Given the description of an element on the screen output the (x, y) to click on. 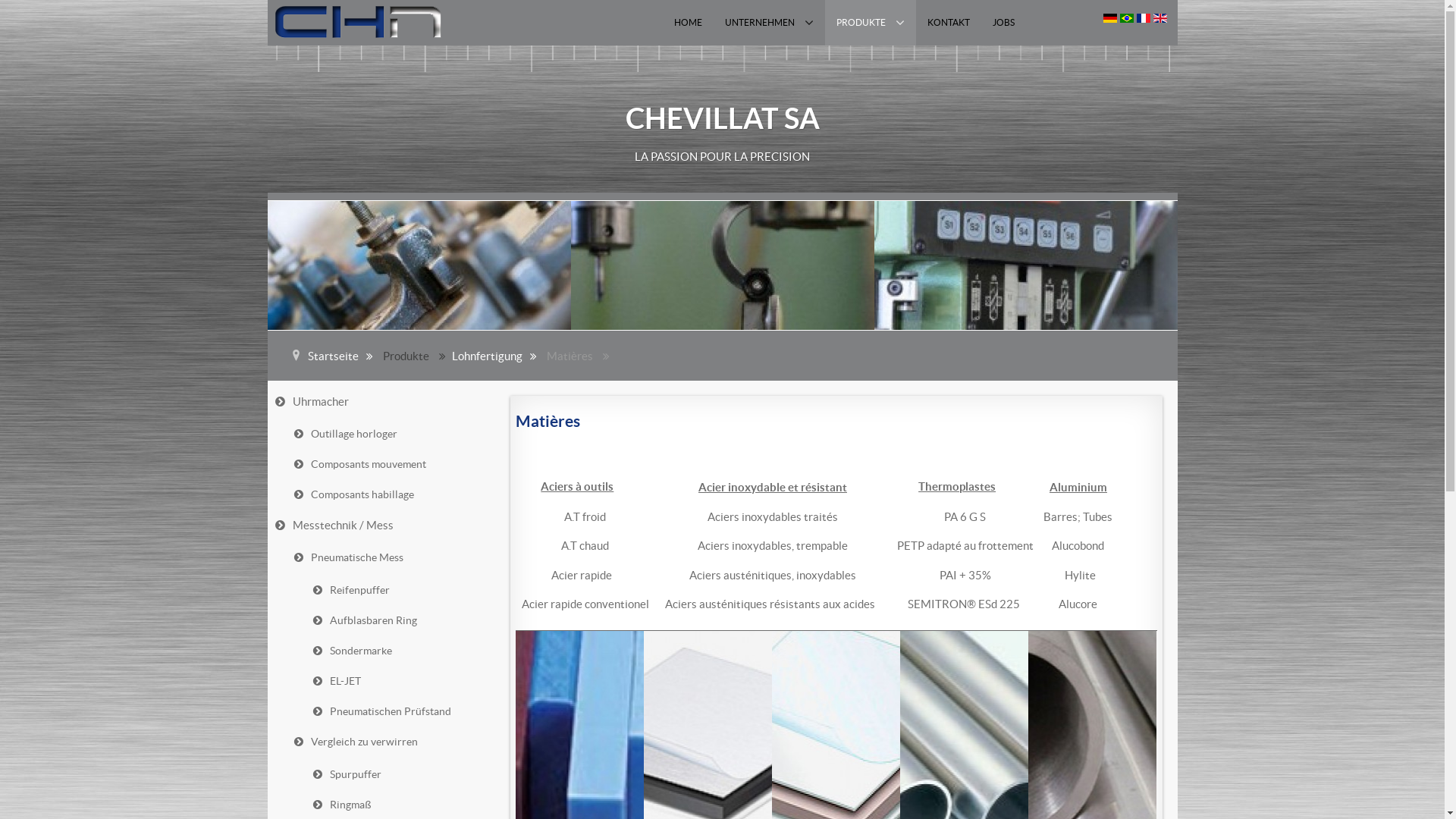
Sondermarke Element type: text (399, 650)
LEX_3637-a359438af2 Element type: hover (1024, 264)
JOBS Element type: text (1003, 22)
English (UK) Element type: hover (1159, 17)
Composants habillage Element type: text (390, 493)
Composants mouvement Element type: text (390, 463)
Reifenpuffer Element type: text (399, 589)
KONTAKT Element type: text (948, 22)
Chevillat_14_0005-bb986b1d6d Element type: hover (418, 264)
Messtechnik / Mess Element type: text (380, 524)
Lohnfertigung Element type: text (497, 354)
Portugais Element type: hover (1125, 17)
Outillage horloger Element type: text (390, 433)
Aufblasbaren Ring Element type: text (399, 619)
EL-JET Element type: text (399, 680)
Vergleich zu verwirren Element type: text (390, 741)
Spurpuffer Element type: text (399, 774)
LEX_3386-1ceb02bec0 Element type: hover (721, 264)
Pneumatische Mess Element type: text (390, 557)
PRODUKTE Element type: text (870, 22)
Uhrmacher Element type: text (380, 401)
UNTERNEHMEN Element type: text (768, 22)
German (DE) Element type: hover (1109, 17)
HOME Element type: text (687, 22)
Startseite Element type: text (343, 354)
